Given the description of an element on the screen output the (x, y) to click on. 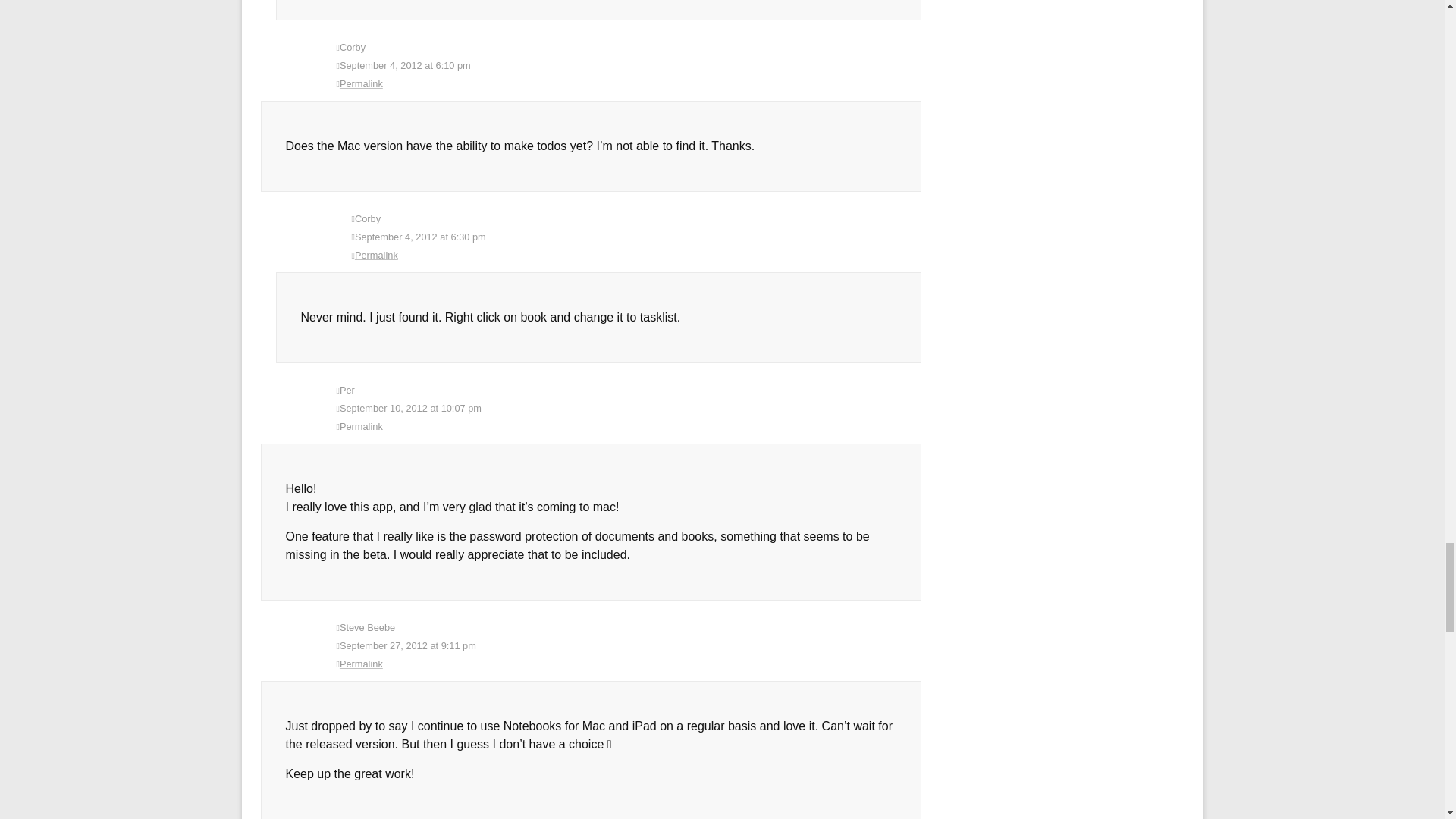
Permalink (628, 426)
Permalink (636, 255)
Permalink (628, 84)
